Given the description of an element on the screen output the (x, y) to click on. 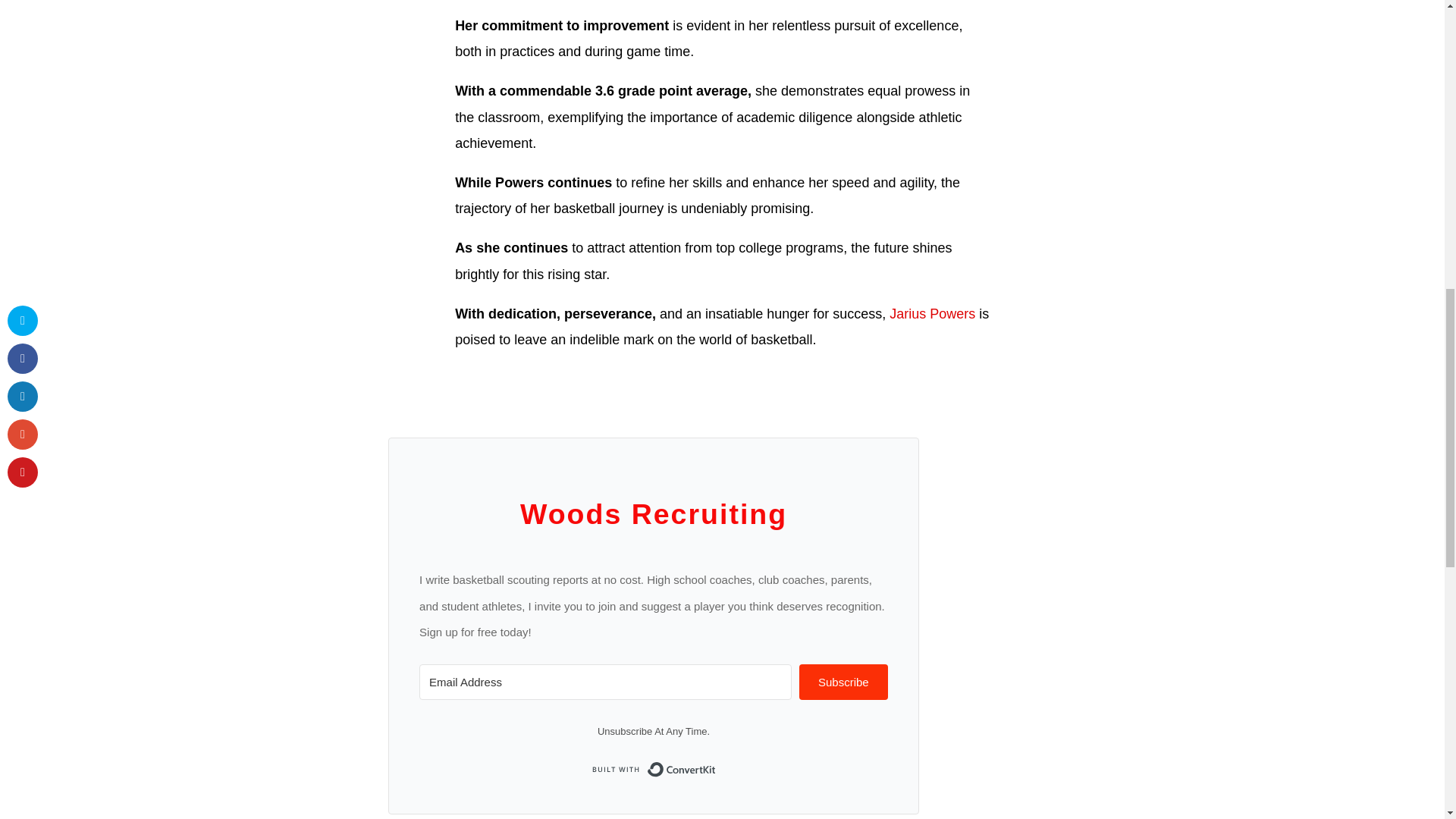
Subscribe (843, 682)
Built with ConvertKit (653, 768)
Jarius Powers (930, 313)
